Given the description of an element on the screen output the (x, y) to click on. 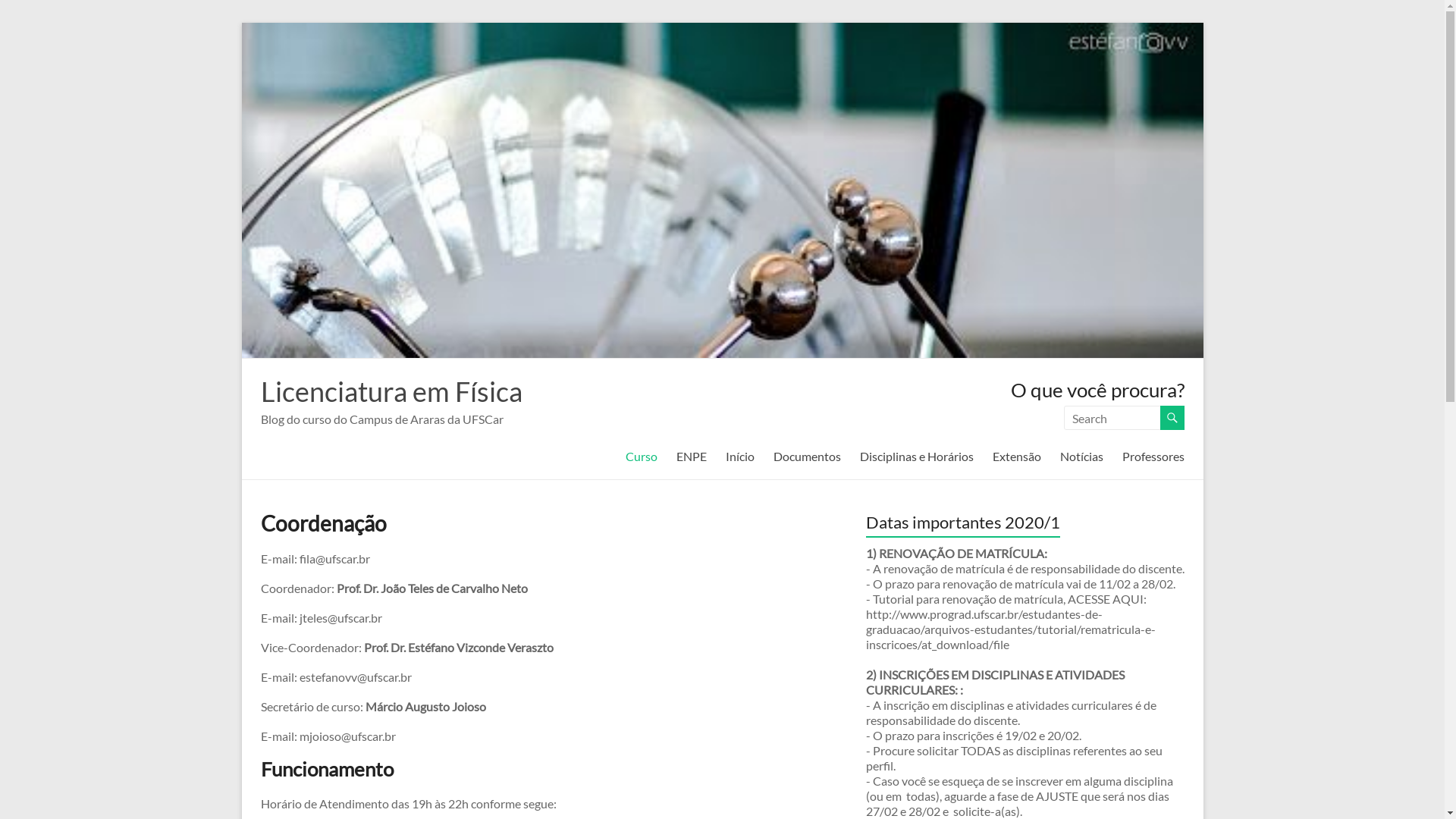
ENPE Element type: text (691, 456)
Professores Element type: text (1153, 456)
Documentos Element type: text (806, 456)
Curso Element type: text (640, 456)
Skip to content Element type: text (241, 21)
